Given the description of an element on the screen output the (x, y) to click on. 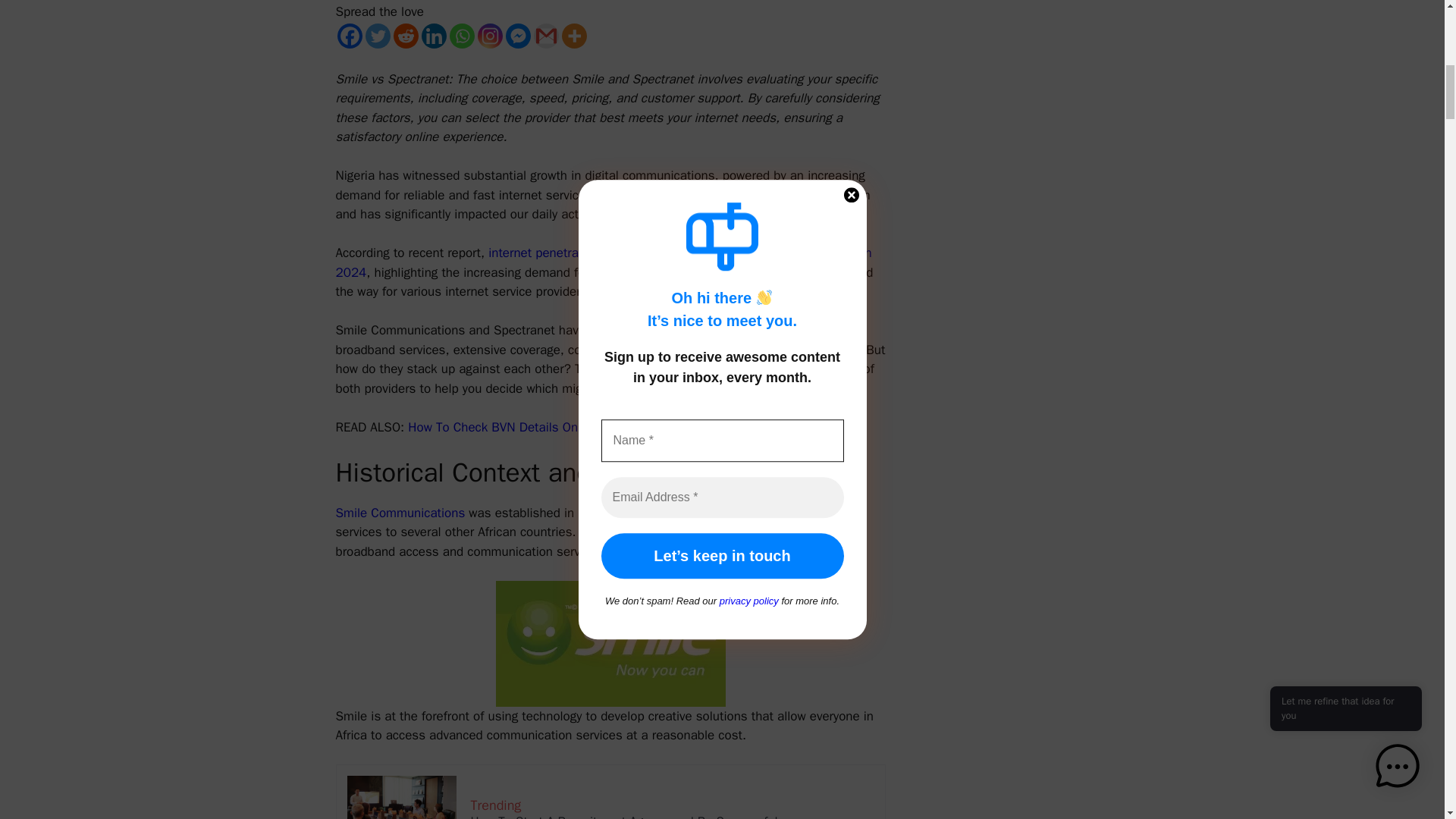
Facebook (348, 35)
